Given the description of an element on the screen output the (x, y) to click on. 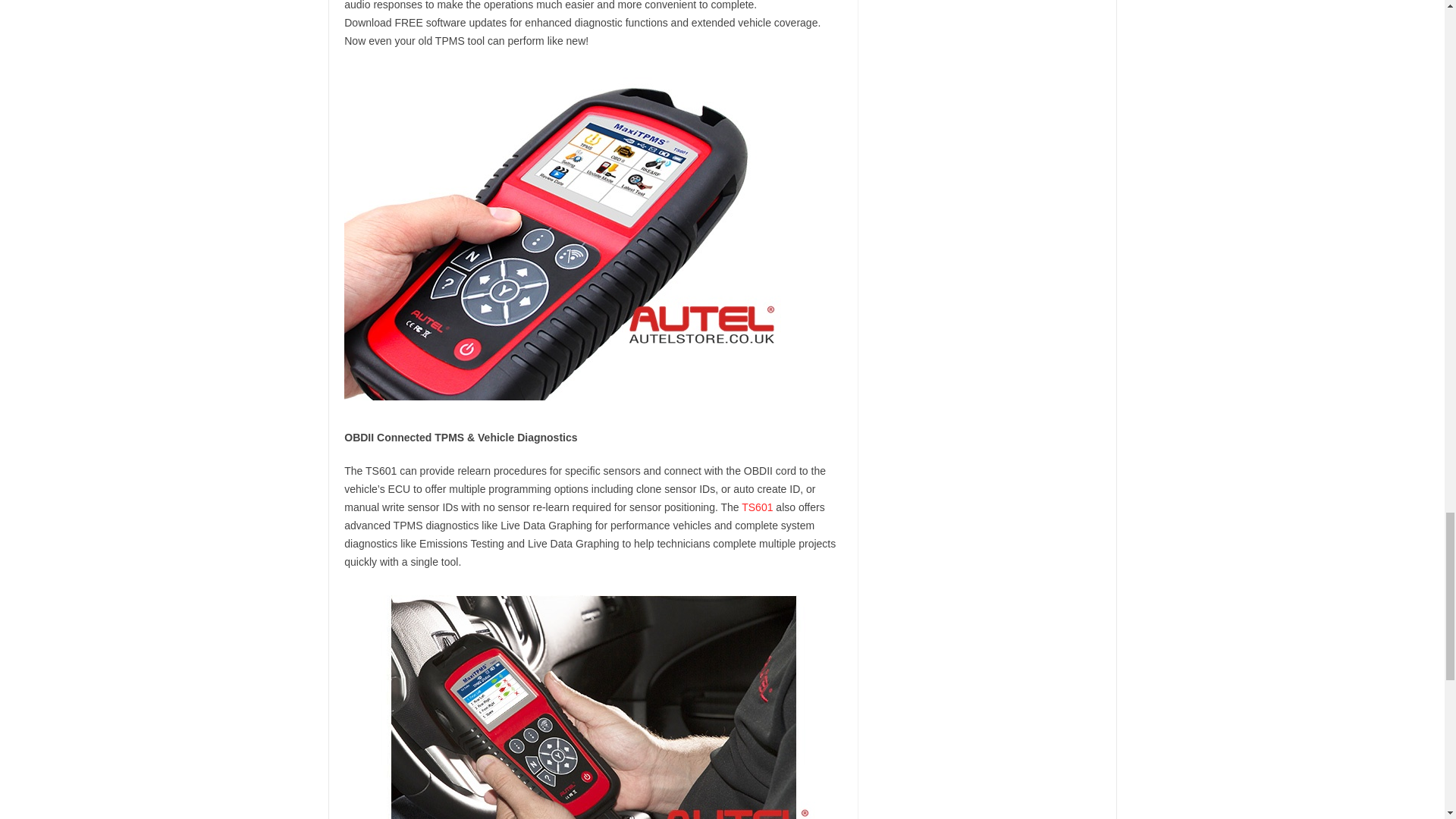
TS601 (757, 507)
